Given the description of an element on the screen output the (x, y) to click on. 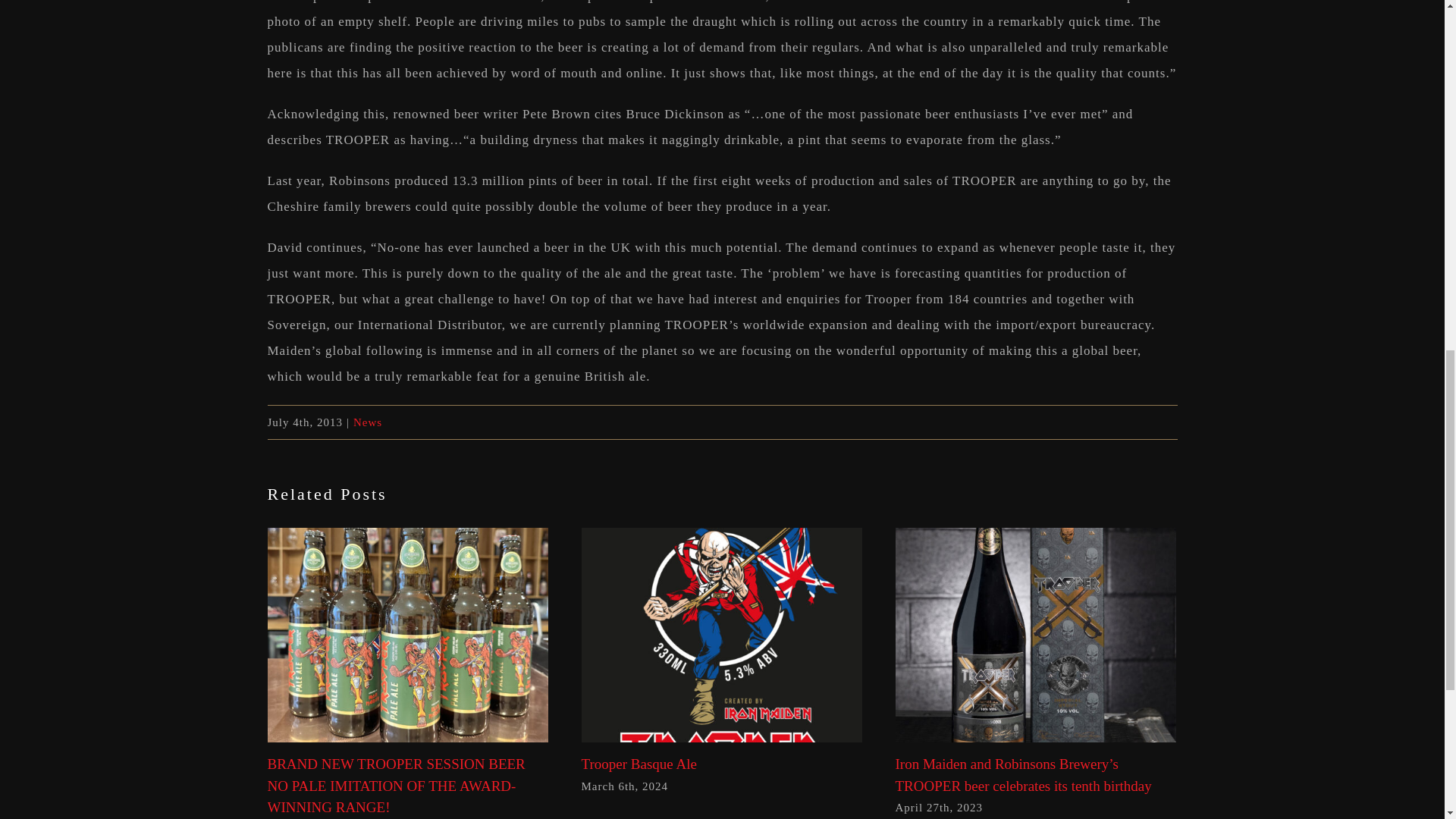
News (367, 422)
Trooper Basque Ale (637, 763)
Trooper Basque Ale (637, 763)
